Given the description of an element on the screen output the (x, y) to click on. 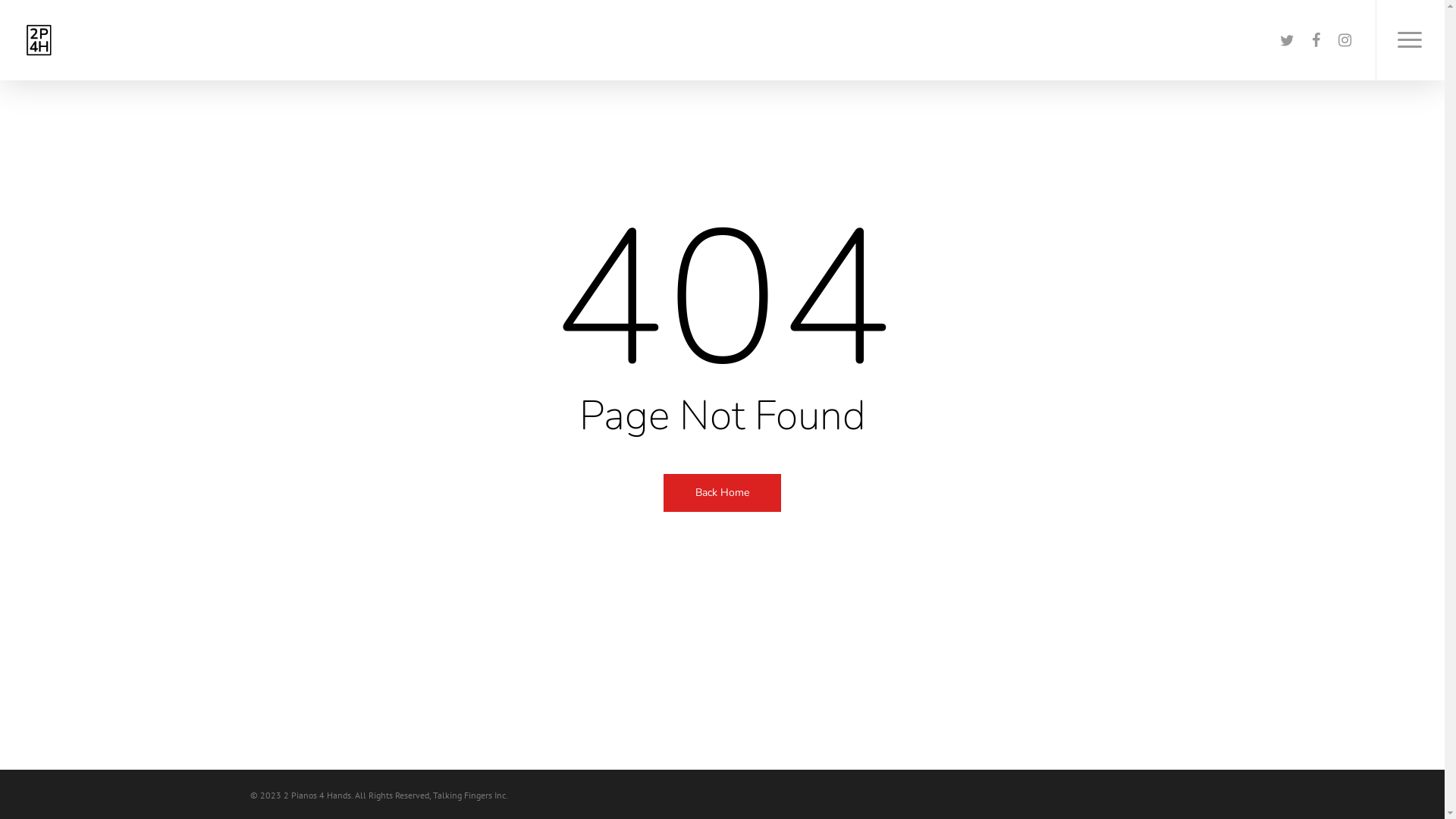
instagram Element type: text (1344, 40)
twitter Element type: text (1286, 40)
Back Home Element type: text (722, 492)
Menu Element type: text (1409, 40)
facebook Element type: text (1315, 40)
